Given the description of an element on the screen output the (x, y) to click on. 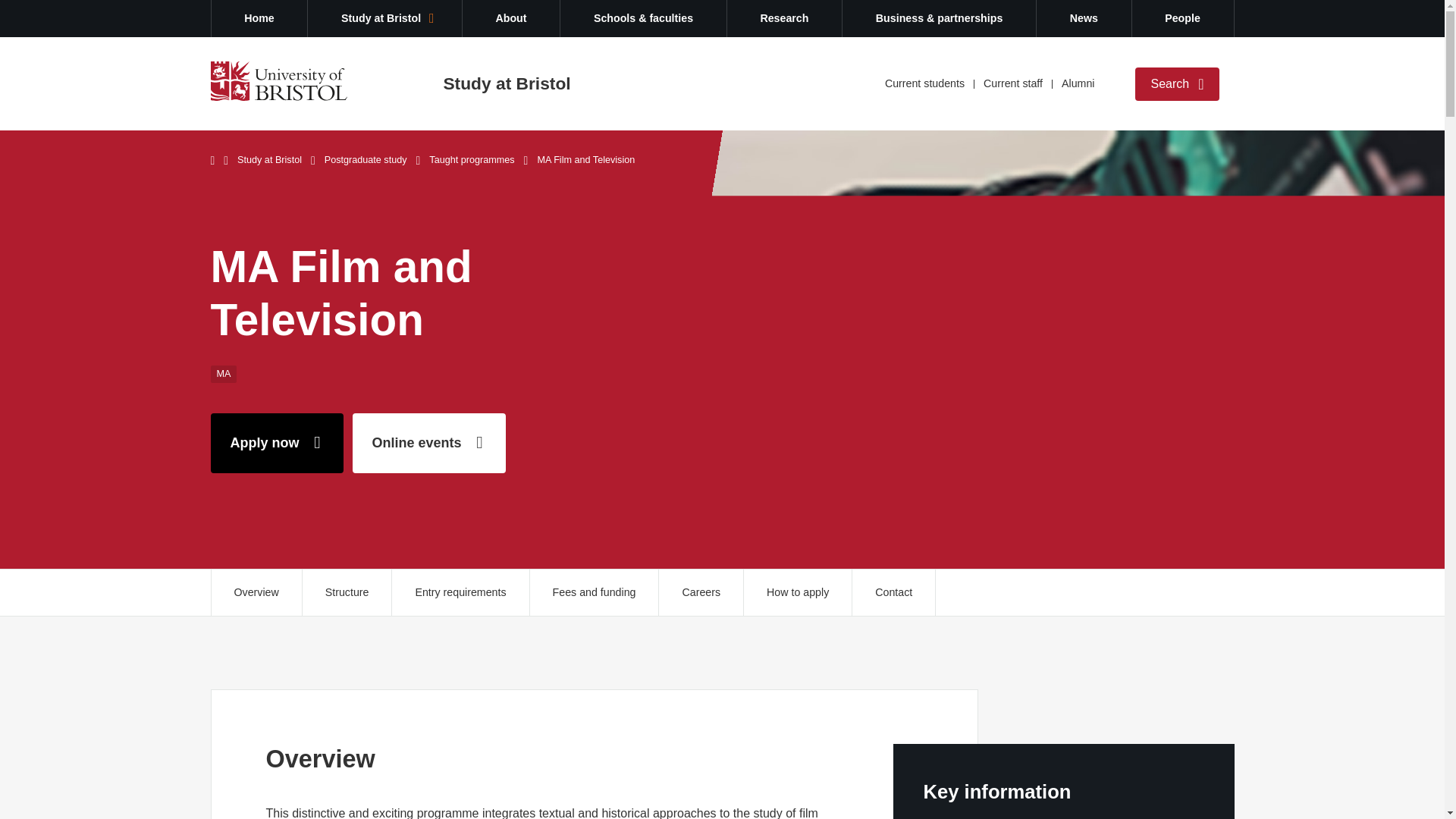
Search (1176, 83)
People (1182, 18)
Study at Bristol (384, 18)
Study at Bristol (506, 83)
Postgraduate study (365, 160)
Return to homepage (279, 80)
Research (783, 18)
Current staff (1013, 83)
Alumni (1077, 83)
About (511, 18)
